Given the description of an element on the screen output the (x, y) to click on. 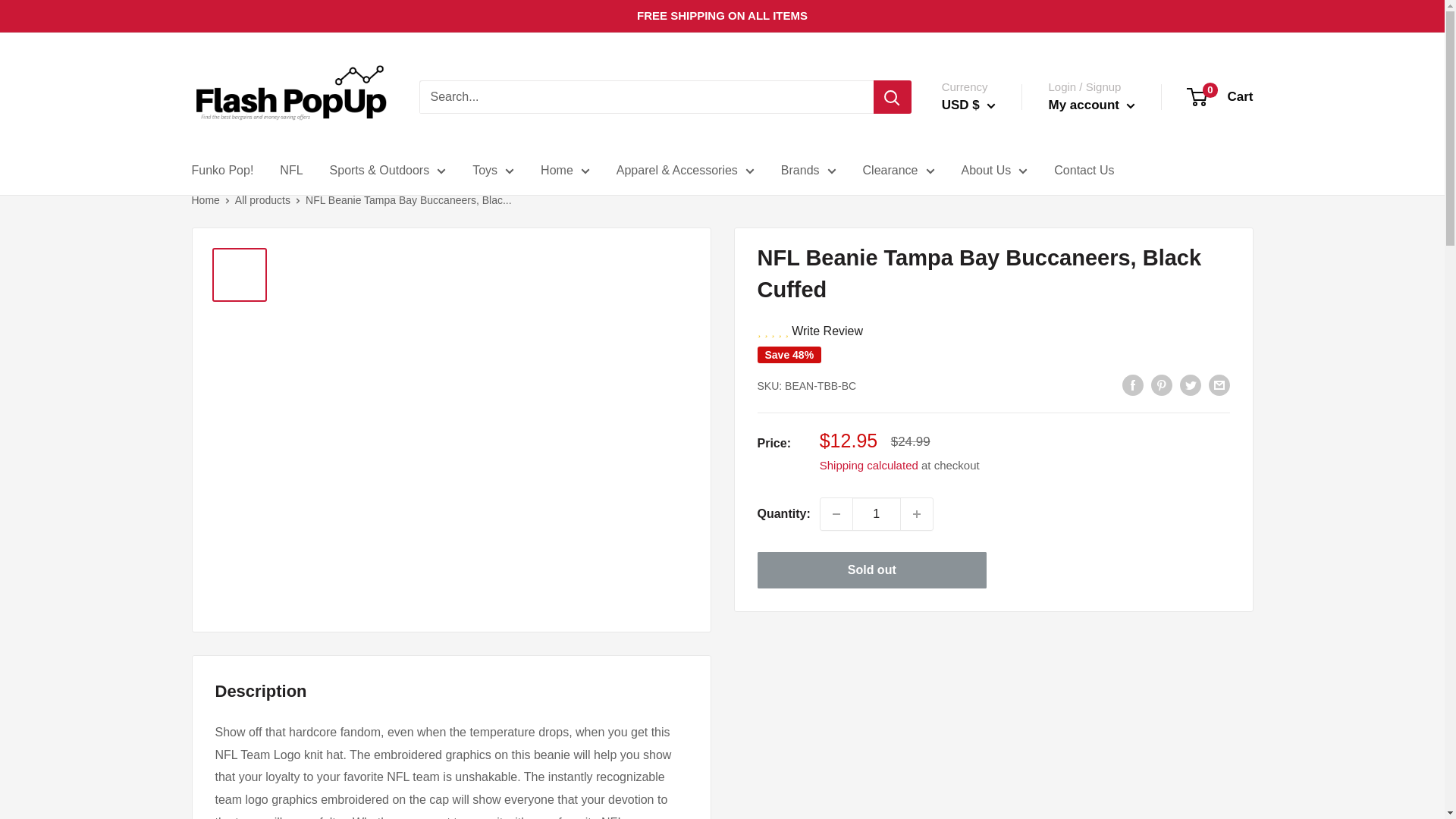
1 (876, 513)
Increase quantity by 1 (917, 513)
Decrease quantity by 1 (836, 513)
